Given the description of an element on the screen output the (x, y) to click on. 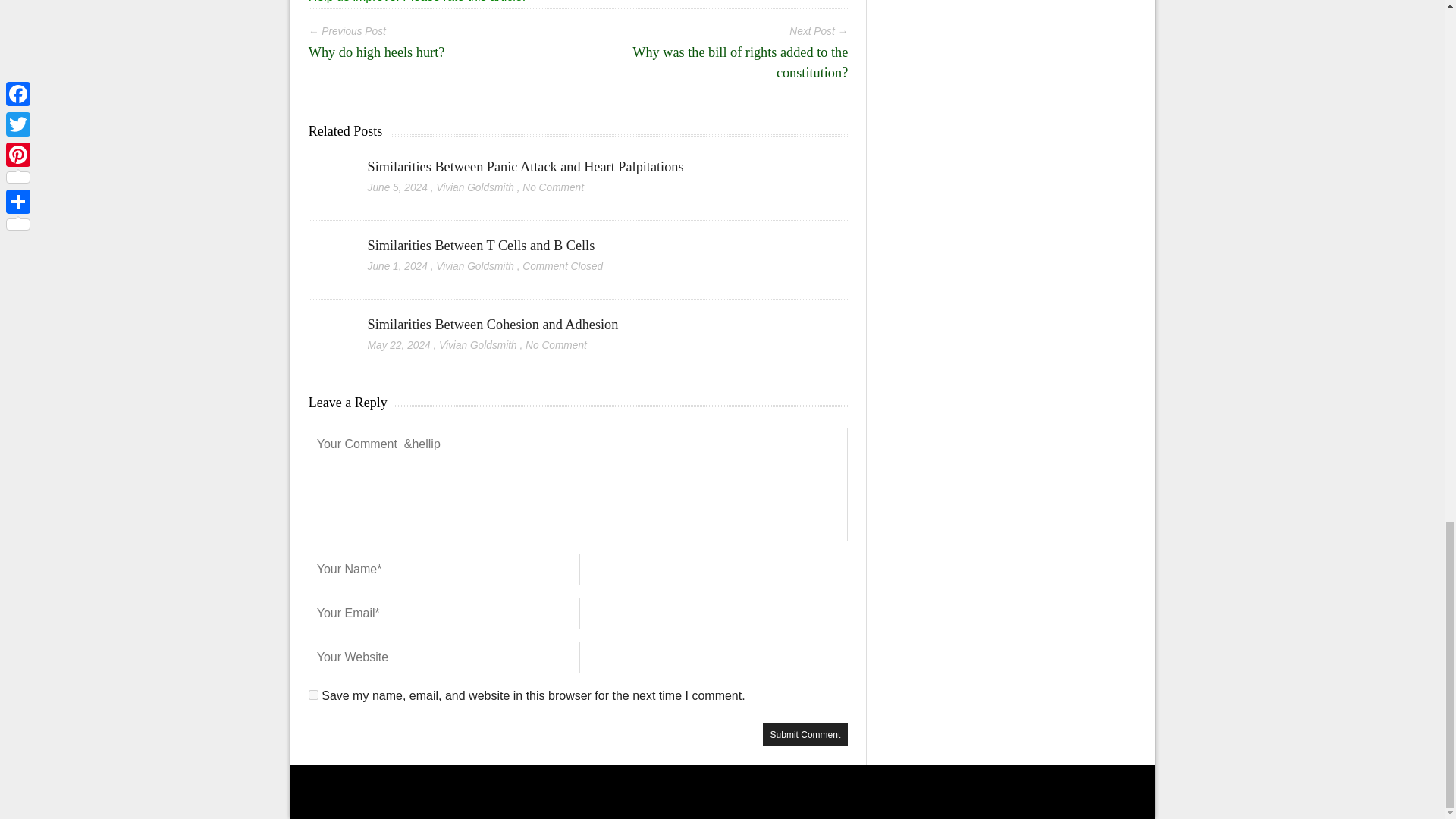
Similarities Between Panic Attack and Heart Palpitations (329, 167)
Posts by Vivian Goldsmith (474, 187)
Submit Comment (805, 734)
Similarities Between T Cells and B Cells (481, 245)
Vivian Goldsmith (474, 187)
Similarities Between T Cells and B Cells (329, 246)
yes (313, 695)
Similarities Between Panic Attack and Heart Palpitations (526, 166)
Vivian Goldsmith (477, 345)
Similarities Between T Cells and B Cells (481, 245)
